Given the description of an element on the screen output the (x, y) to click on. 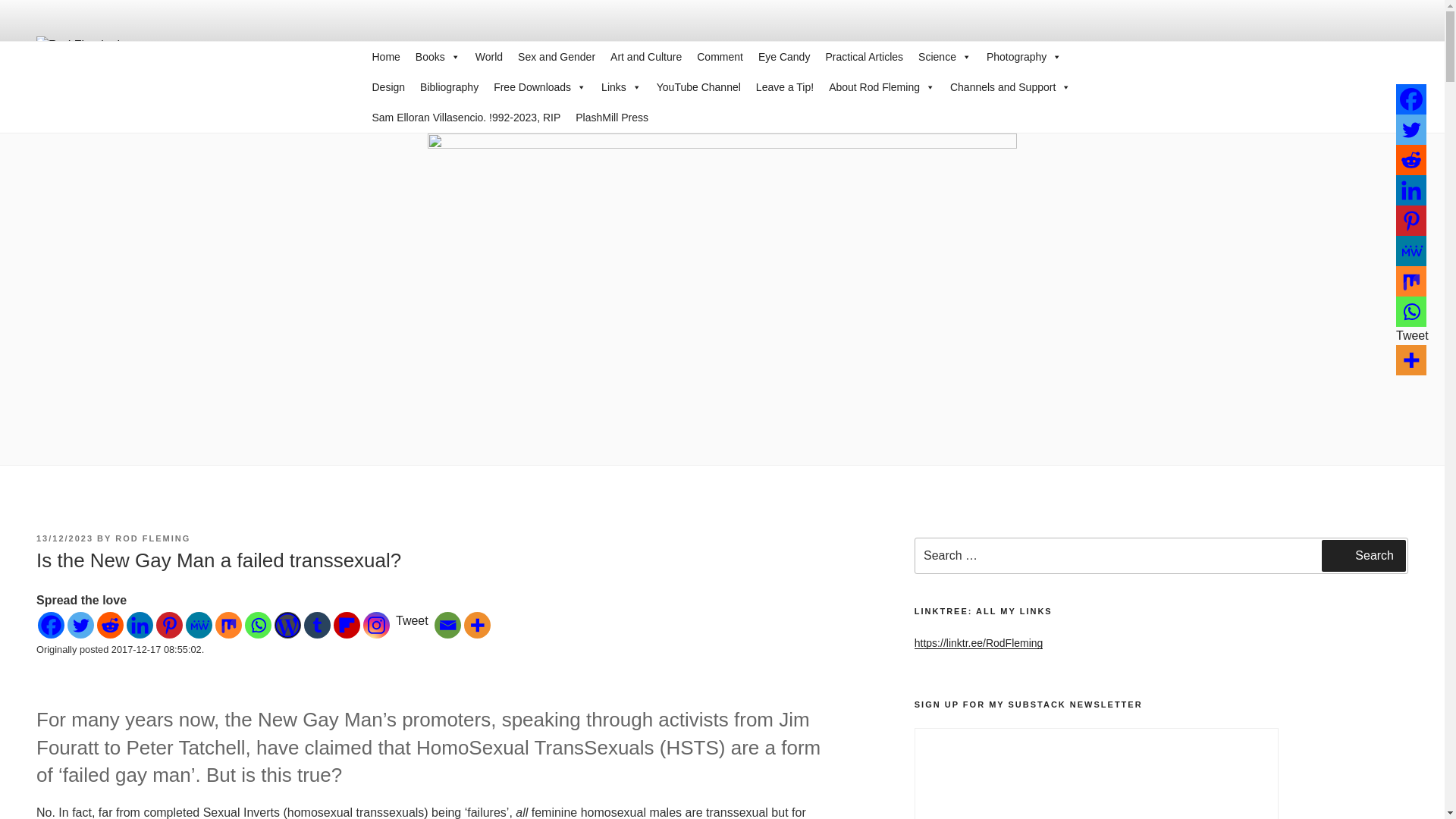
Links (621, 87)
Tumblr (317, 624)
Home (385, 56)
Whatsapp (257, 624)
Instagram (376, 624)
Practical Articles (863, 56)
Flipboard (346, 624)
Bibliography (449, 87)
Pinterest (169, 624)
Mix (228, 624)
